Given the description of an element on the screen output the (x, y) to click on. 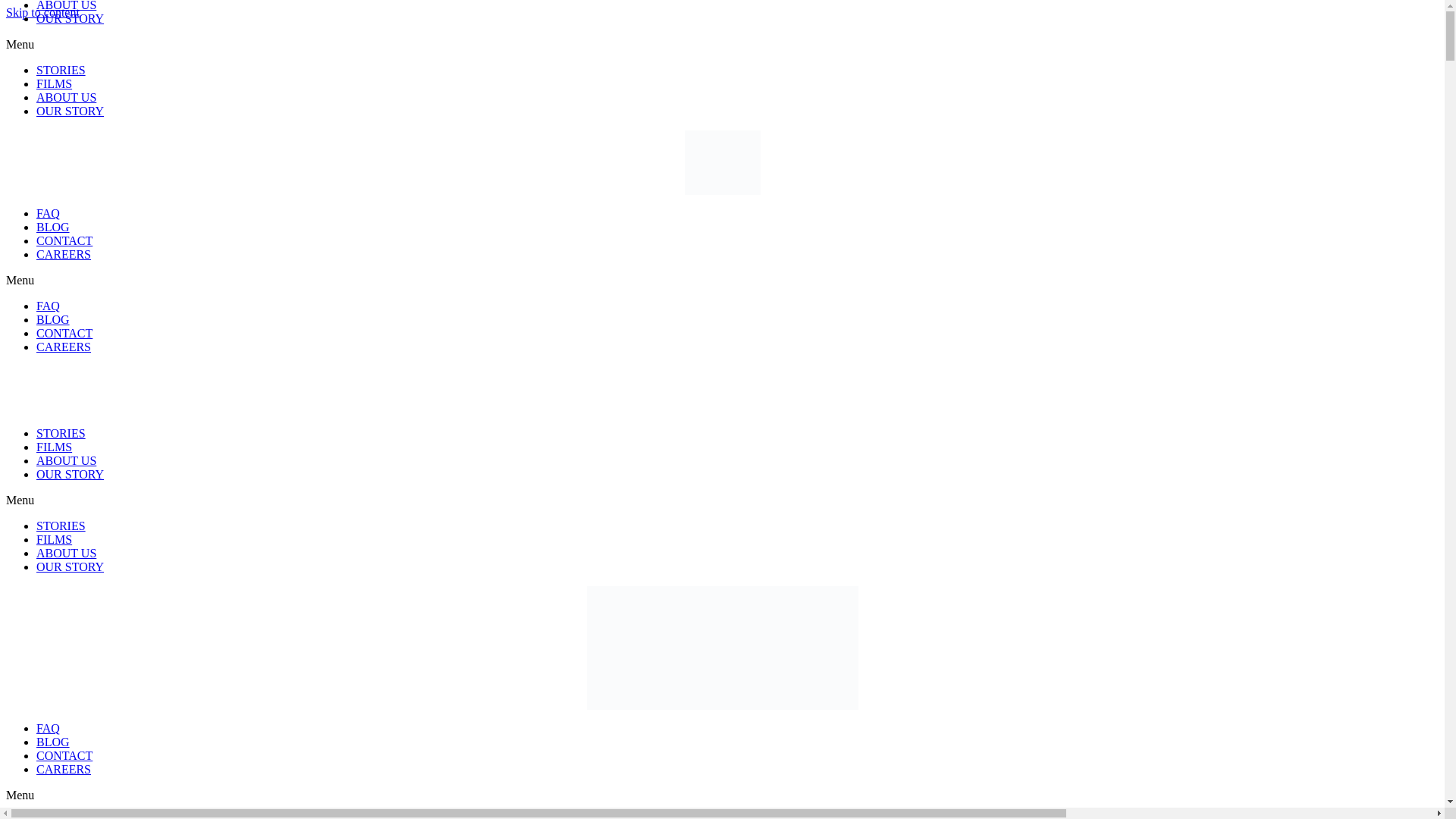
CAREERS (63, 346)
ABOUT US (66, 5)
ABOUT US (66, 97)
FILMS (53, 539)
FAQ (47, 816)
OUR STORY (69, 473)
ABOUT US (66, 460)
BLOG (52, 226)
FILMS (53, 446)
FAQ (47, 727)
FAQ (47, 305)
ABOUT US (66, 553)
OUR STORY (69, 18)
FAQ (47, 213)
STORIES (60, 69)
